Given the description of an element on the screen output the (x, y) to click on. 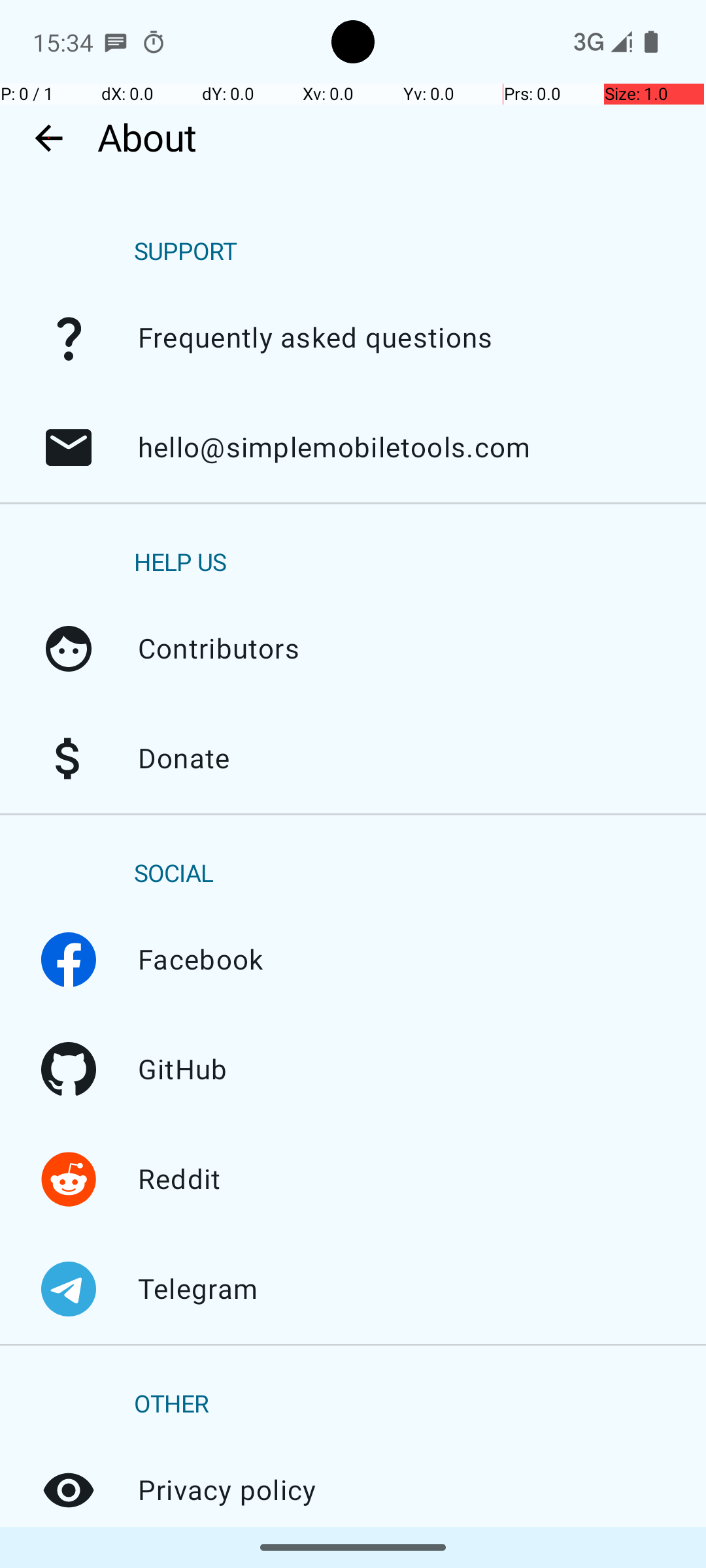
SMS Messenger notification: Amir dos Santos Element type: android.widget.ImageView (115, 41)
